Given the description of an element on the screen output the (x, y) to click on. 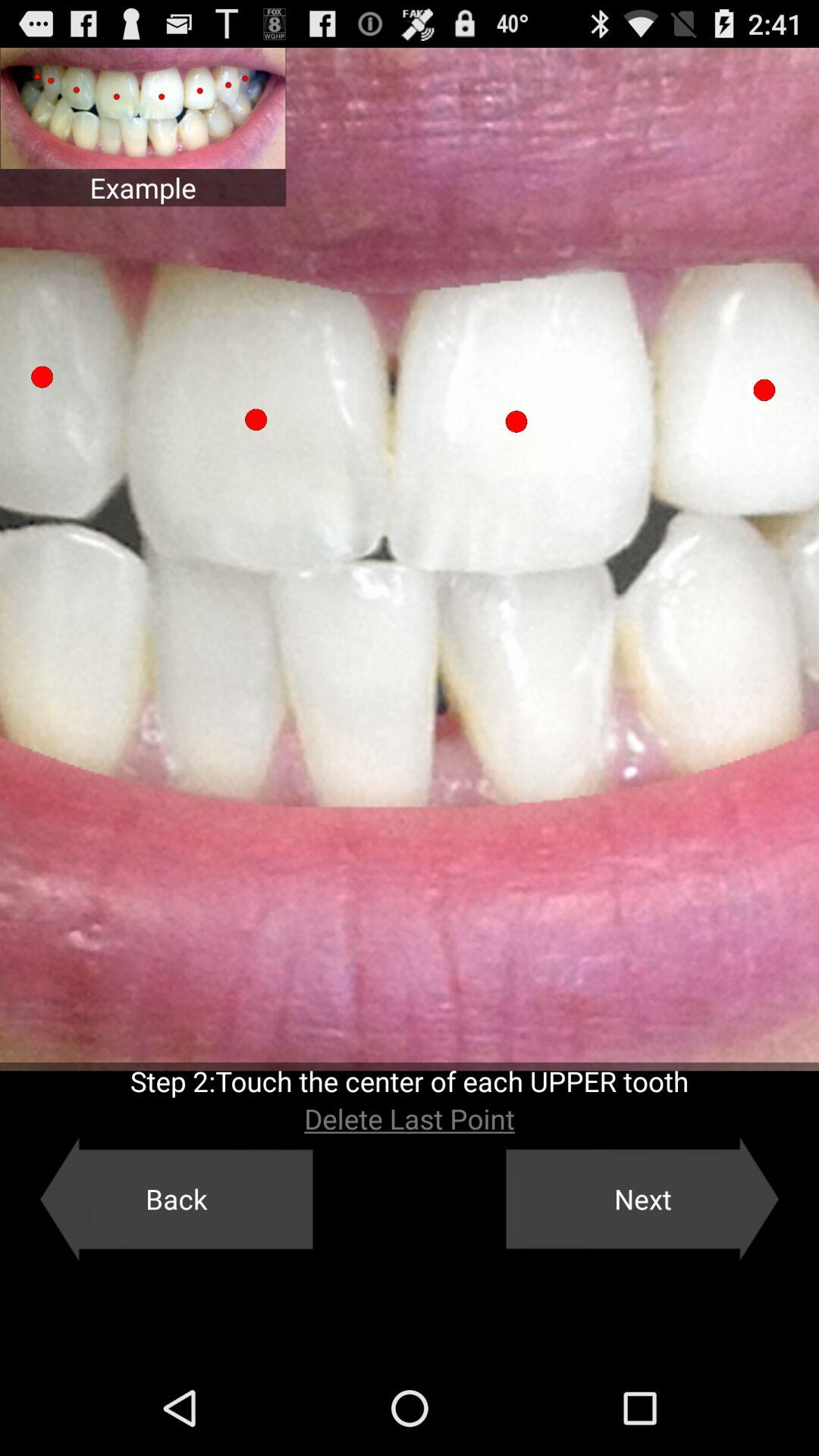
choose next at the bottom right corner (642, 1198)
